Given the description of an element on the screen output the (x, y) to click on. 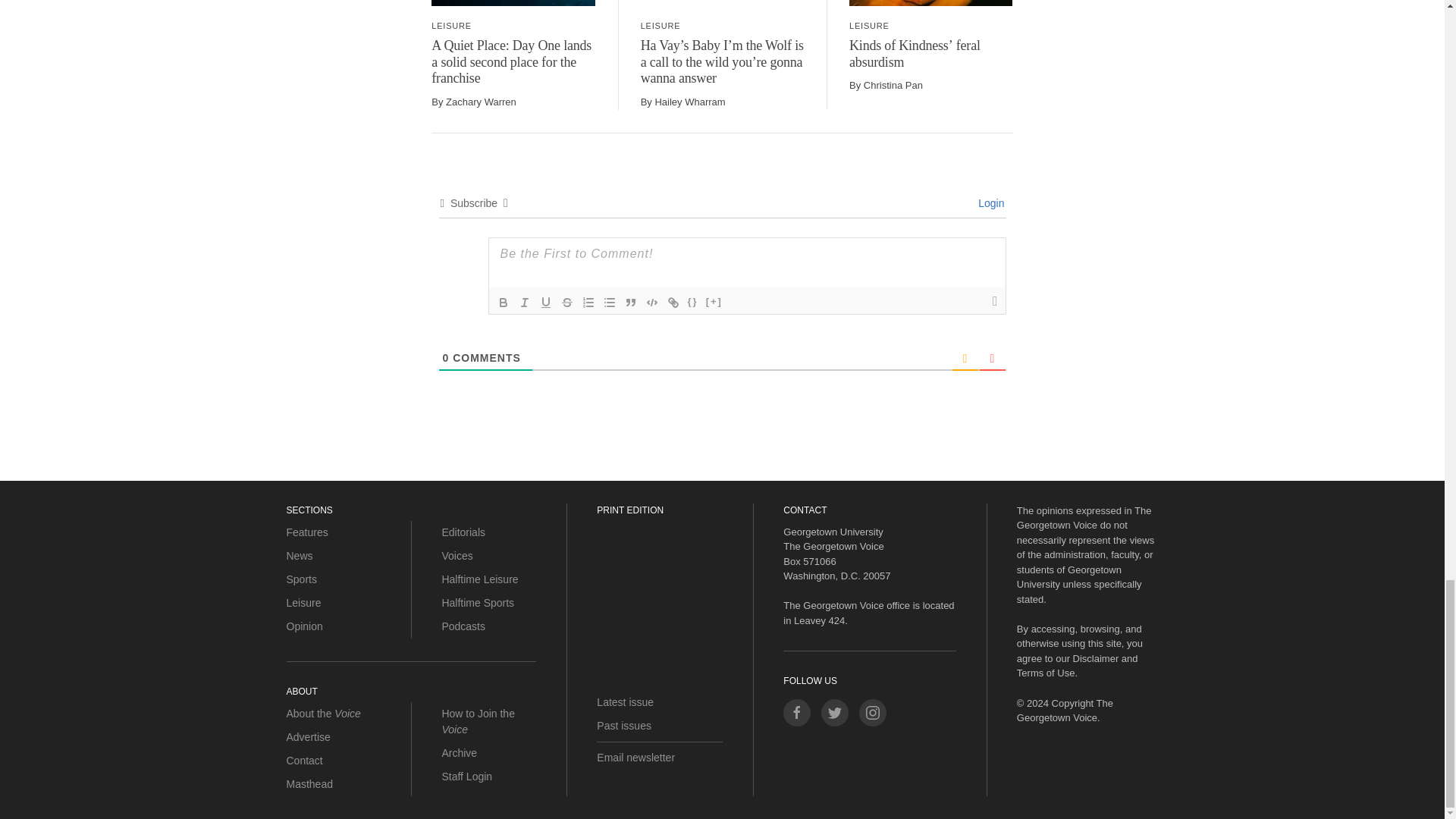
Posts by Christina Pan (893, 84)
Ordered List (588, 302)
Strike (567, 302)
Source Code (692, 302)
Italic (524, 302)
Code Block (652, 302)
Blockquote (631, 302)
Posts by Zachary Warren (480, 101)
Link (673, 302)
Underline (545, 302)
Spoiler (713, 302)
Bold (503, 302)
Unordered List (609, 302)
Posts by Hailey Wharram (689, 101)
